Given the description of an element on the screen output the (x, y) to click on. 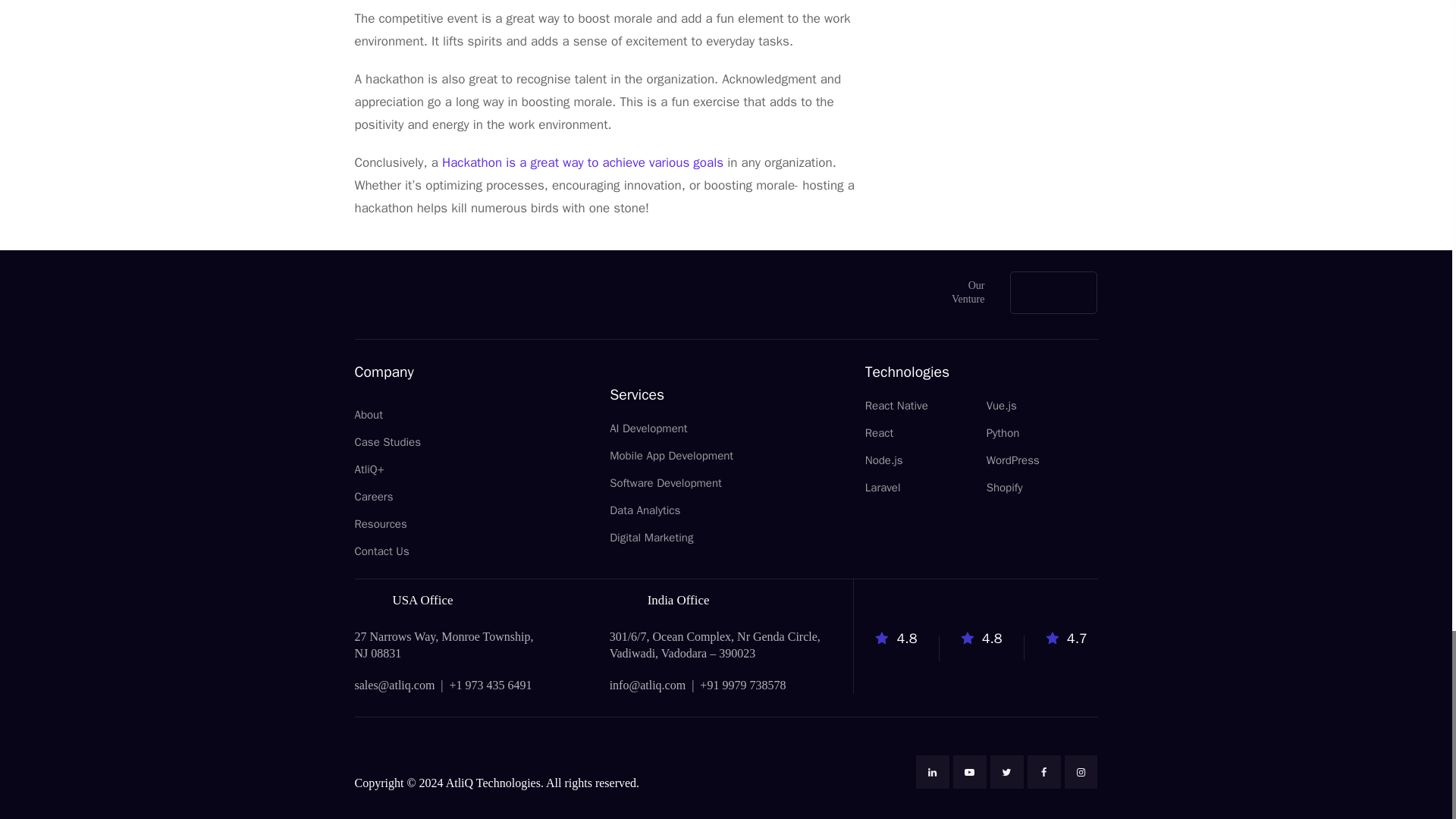
logo2 (428, 292)
Instagram (1080, 771)
Twitter (1006, 771)
LinkedIn (932, 771)
YouTube (970, 771)
Facebook (1044, 771)
Hackathon is a great way to achieve various goals (582, 162)
